Given the description of an element on the screen output the (x, y) to click on. 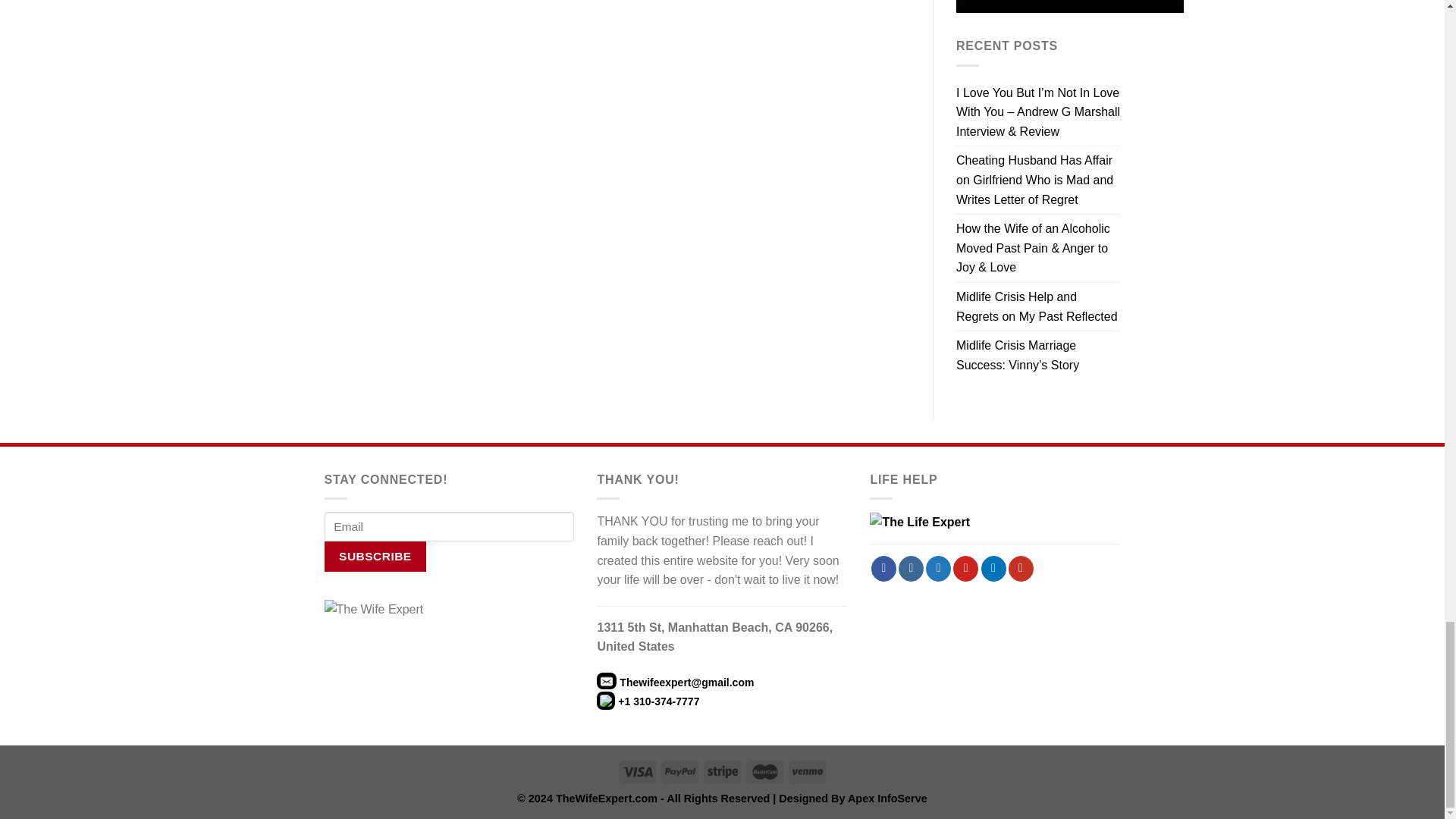
Follow on Twitter (938, 568)
Follow on Instagram (910, 568)
Follow on Facebook (883, 568)
Follow on Pinterest (965, 568)
Subscribe (375, 555)
